Given the description of an element on the screen output the (x, y) to click on. 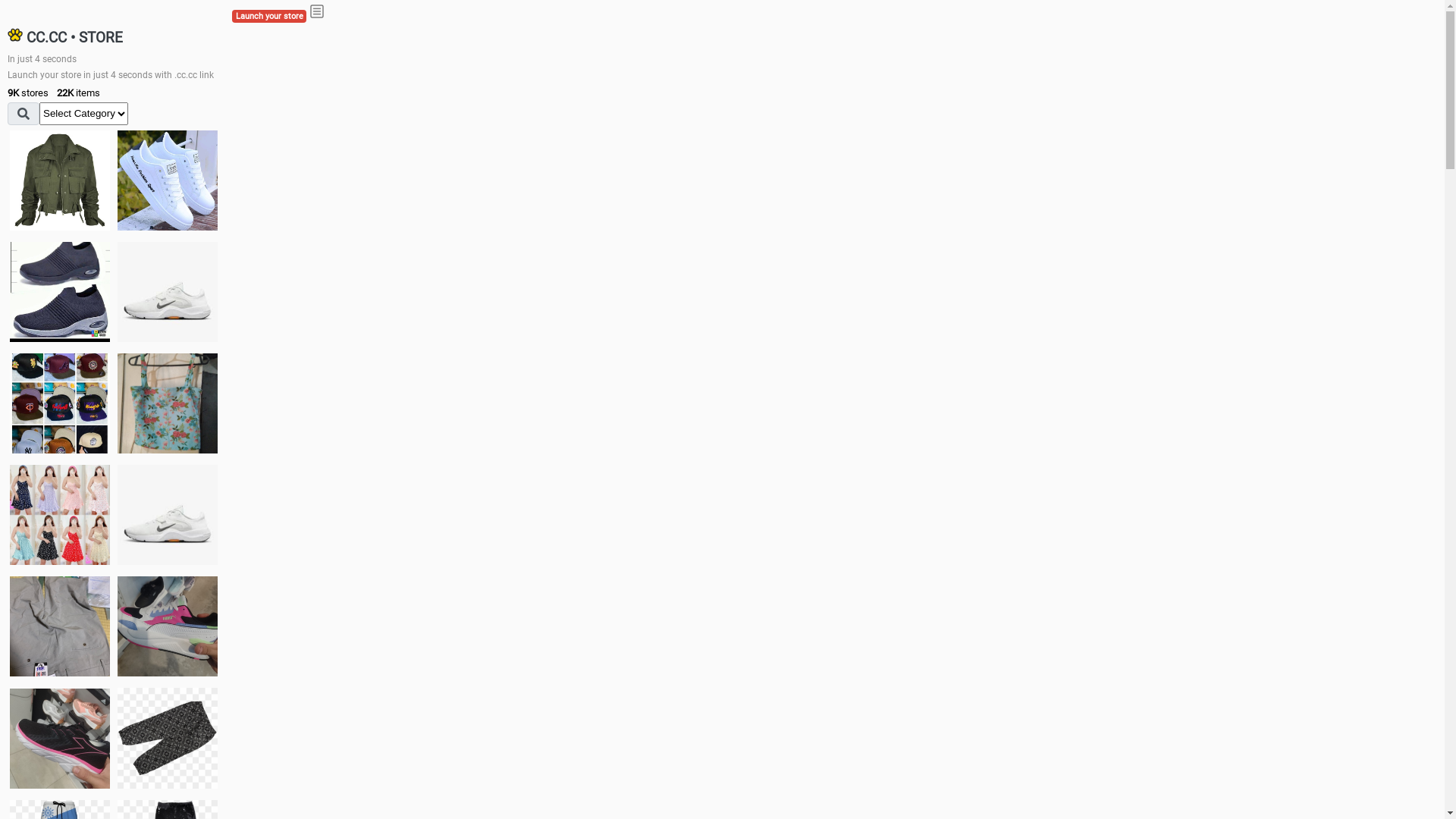
white shoes Element type: hover (167, 180)
Shoes Element type: hover (167, 514)
Dress/square nect top Element type: hover (59, 514)
shoes for boys Element type: hover (59, 291)
Shoes for boys Element type: hover (167, 291)
Zapatillas pumas Element type: hover (167, 626)
Short pant Element type: hover (167, 737)
Zapatillas Element type: hover (59, 738)
Launch your store Element type: text (269, 15)
jacket Element type: hover (59, 180)
Ukay cloth Element type: hover (167, 403)
Things we need Element type: hover (59, 403)
